Given the description of an element on the screen output the (x, y) to click on. 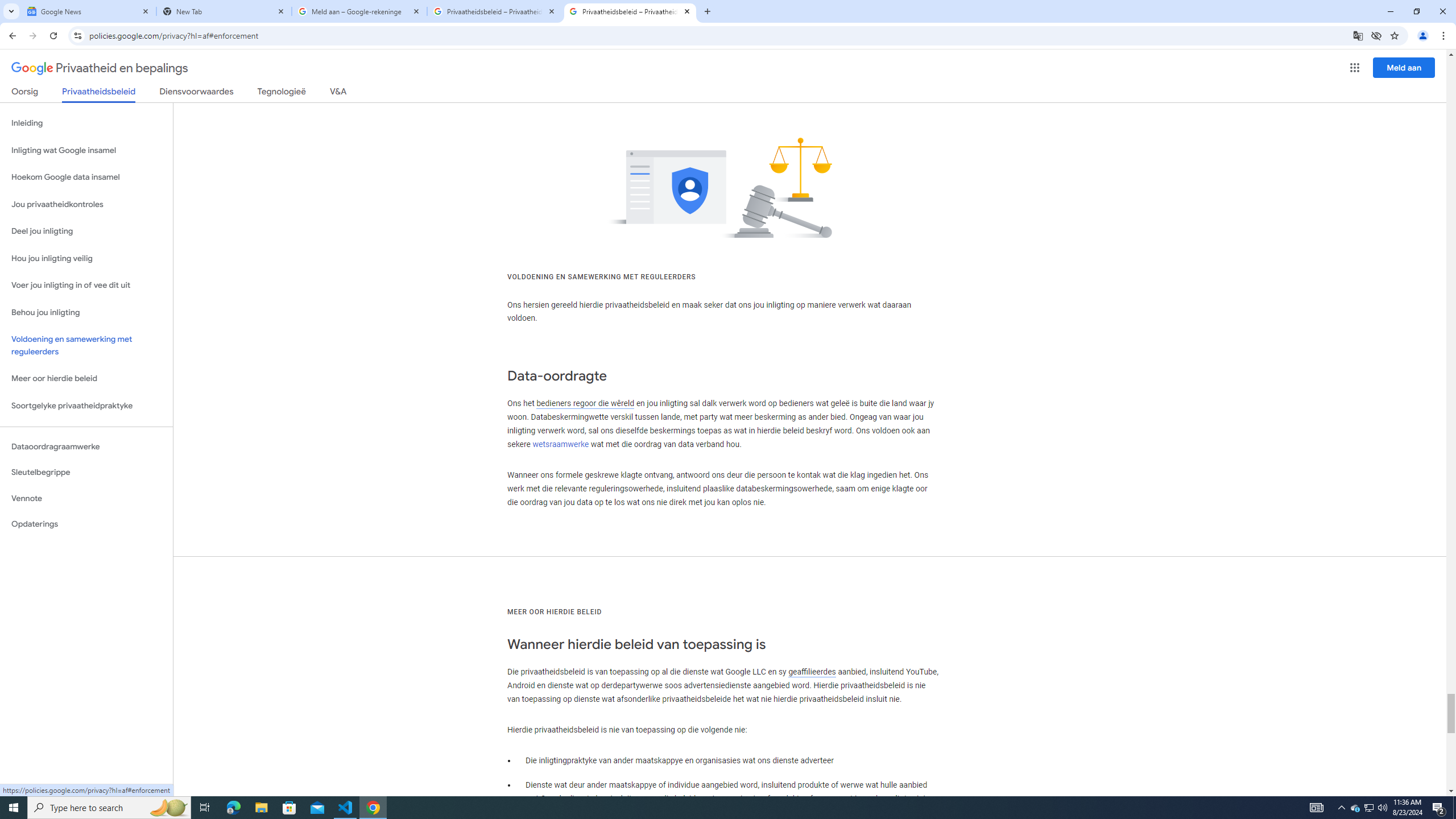
Hou jou inligting veilig (86, 258)
Meer oor hierdie beleid (86, 379)
Google-programme (1355, 67)
Hoekom Google data insamel (86, 176)
Sleutelbegrippe (86, 472)
Inligting wat Google insamel (86, 150)
Privaatheidsbeleid (98, 94)
Voer jou inligting in of vee dit uit (86, 284)
Jou privaatheidkontroles (86, 204)
